Given the description of an element on the screen output the (x, y) to click on. 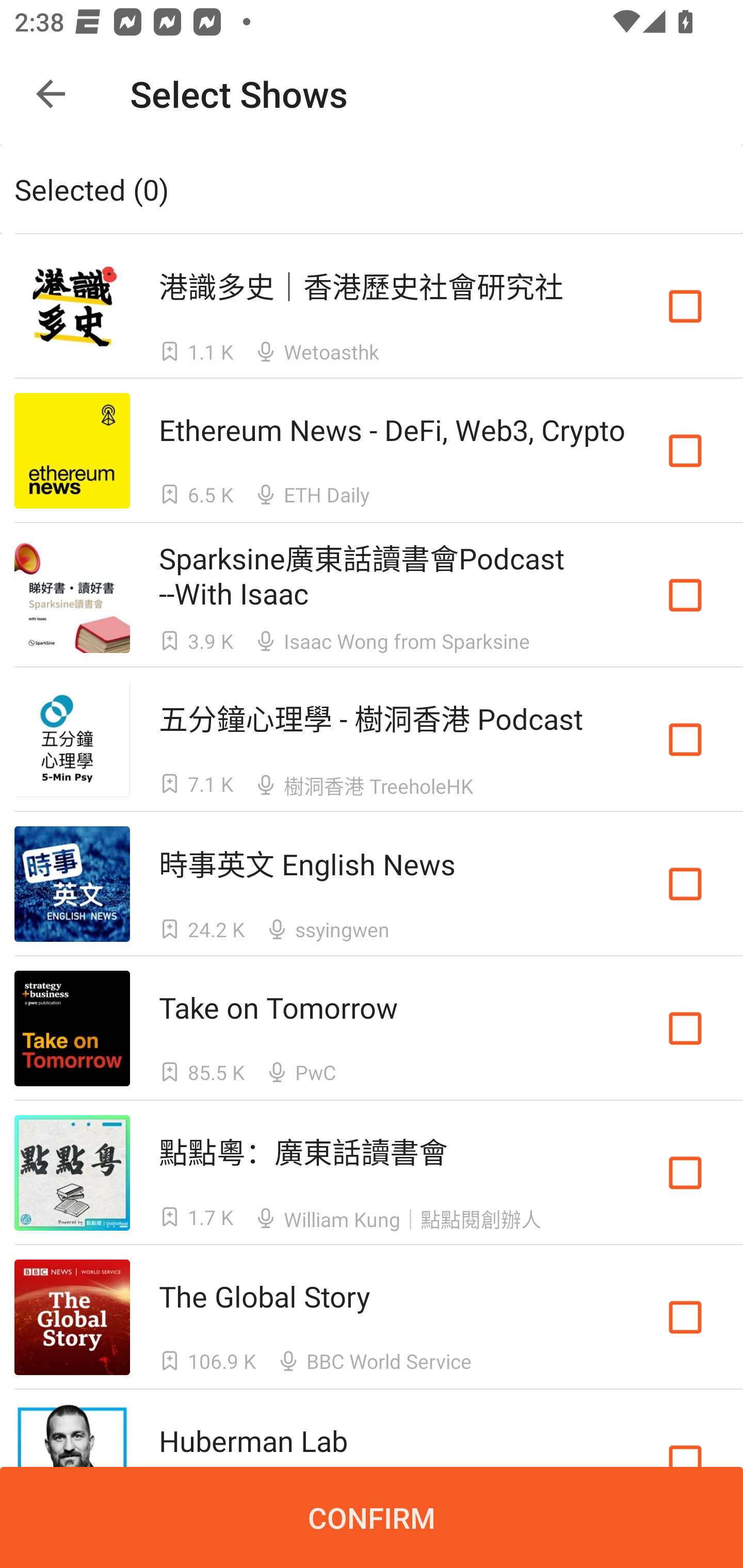
Navigate up (50, 93)
港識多史｜香港歷史社會研究社 港識多史｜香港歷史社會研究社  1.1 K  Wetoasthk (371, 305)
Take on Tomorrow Take on Tomorrow  85.5 K  PwC (371, 1028)
CONFIRM (371, 1517)
